Given the description of an element on the screen output the (x, y) to click on. 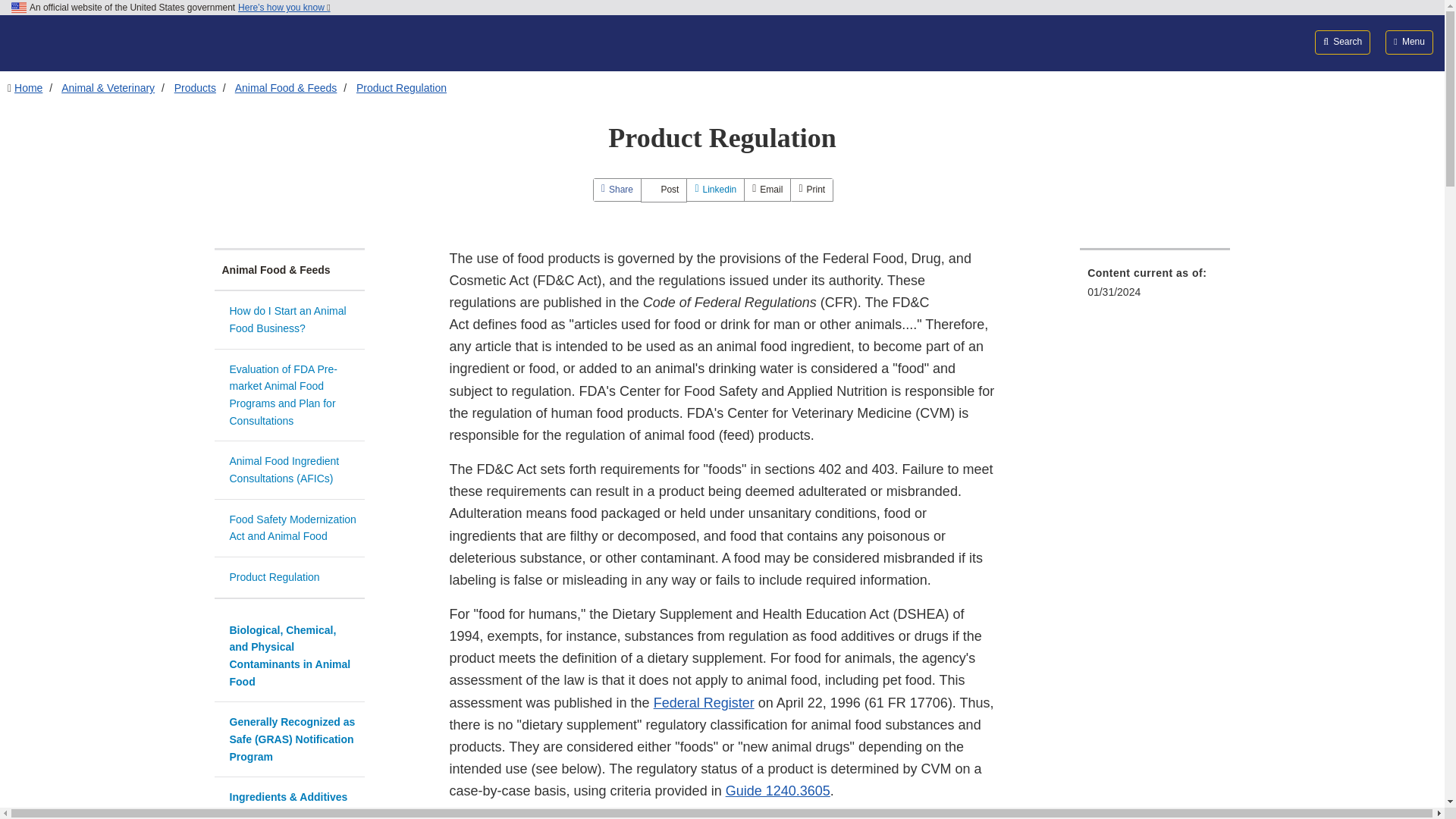
  Menu (1409, 42)
  Search (1342, 42)
1240.3605 Regulating Animal Foods with Drug Claims (777, 790)
Print this page (811, 189)
